Given the description of an element on the screen output the (x, y) to click on. 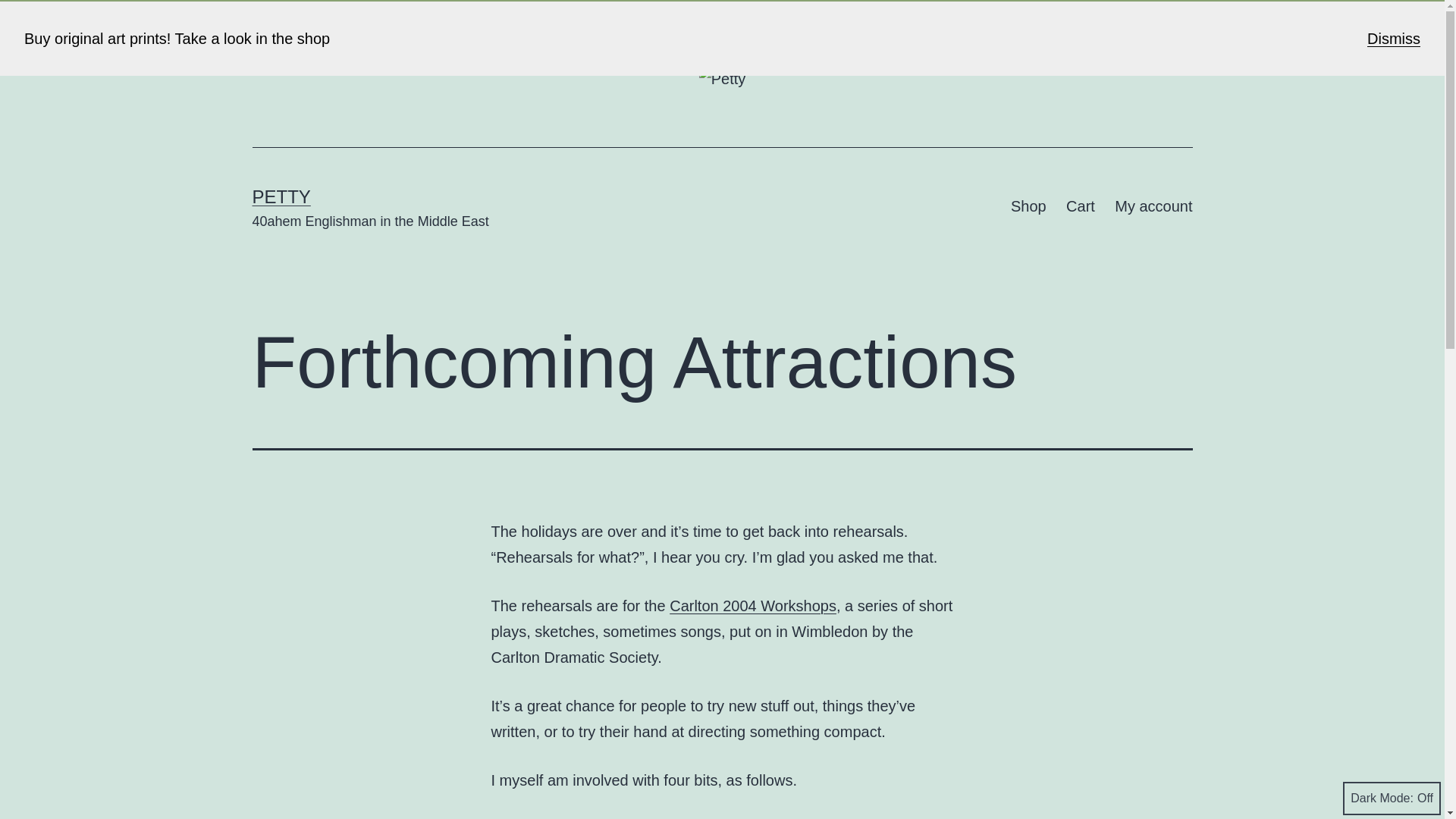
Shop (1029, 206)
Carlton 2004 Workshops (752, 605)
Cart (1081, 206)
Dismiss (1394, 38)
PETTY (280, 196)
My account (1153, 206)
Dark Mode: (1391, 798)
